Given the description of an element on the screen output the (x, y) to click on. 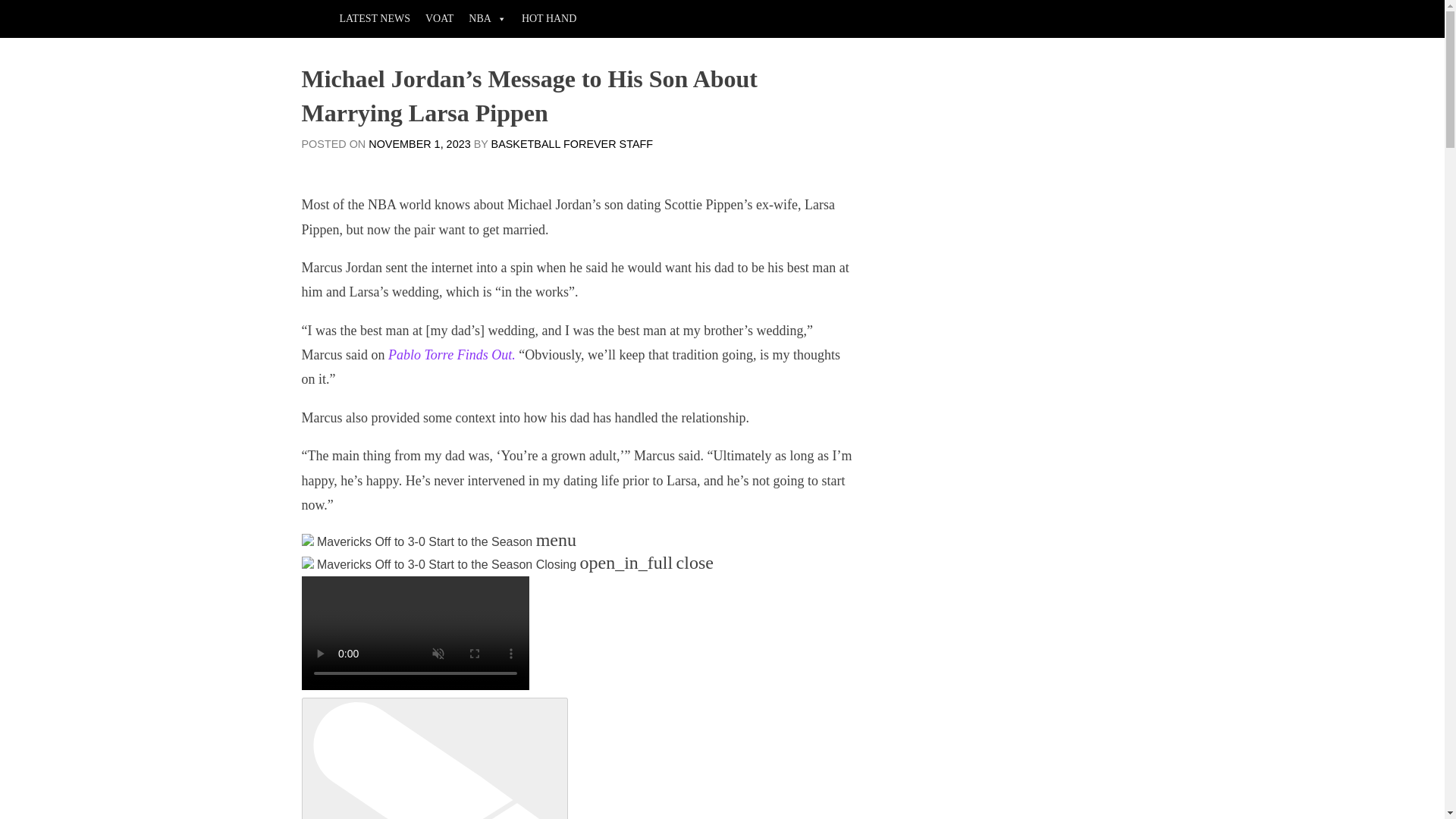
HOT HAND (548, 18)
NBA (487, 18)
LATEST NEWS (374, 18)
NOVEMBER 1, 2023 (419, 143)
VOAT (439, 18)
